Given the description of an element on the screen output the (x, y) to click on. 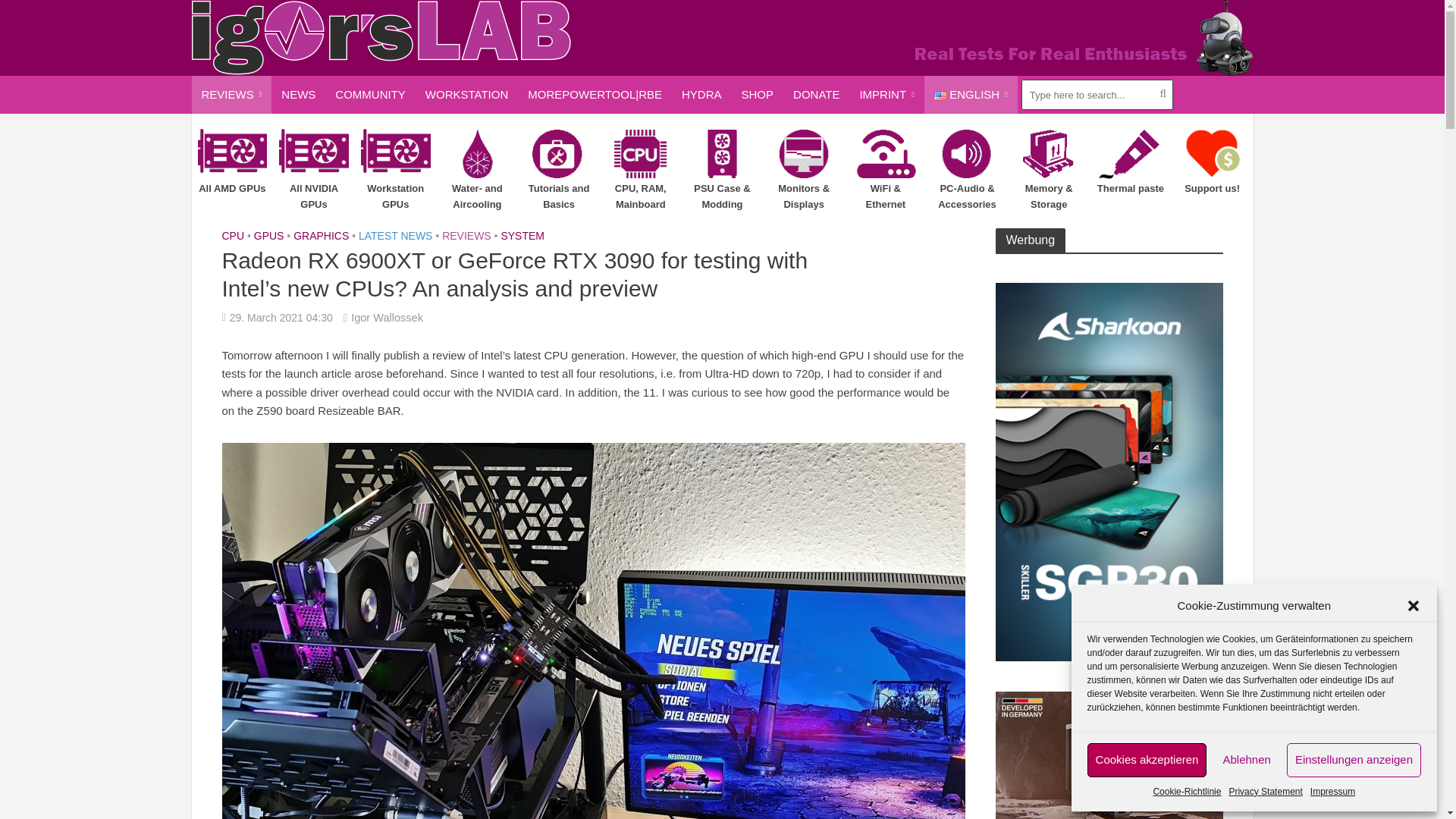
Impressum (1332, 791)
Einstellungen anzeigen (1354, 759)
DONATE (815, 94)
NEWS (297, 94)
IMPRINT (885, 94)
REVIEWS (230, 94)
Privacy Statement (1264, 791)
HYDRA (701, 94)
COMMUNITY (369, 94)
ENGLISH (970, 94)
Cookies akzeptieren (1147, 759)
Cookie-Richtlinie (1187, 791)
SHOP (758, 94)
WORKSTATION (466, 94)
Ablehnen (1246, 759)
